Given the description of an element on the screen output the (x, y) to click on. 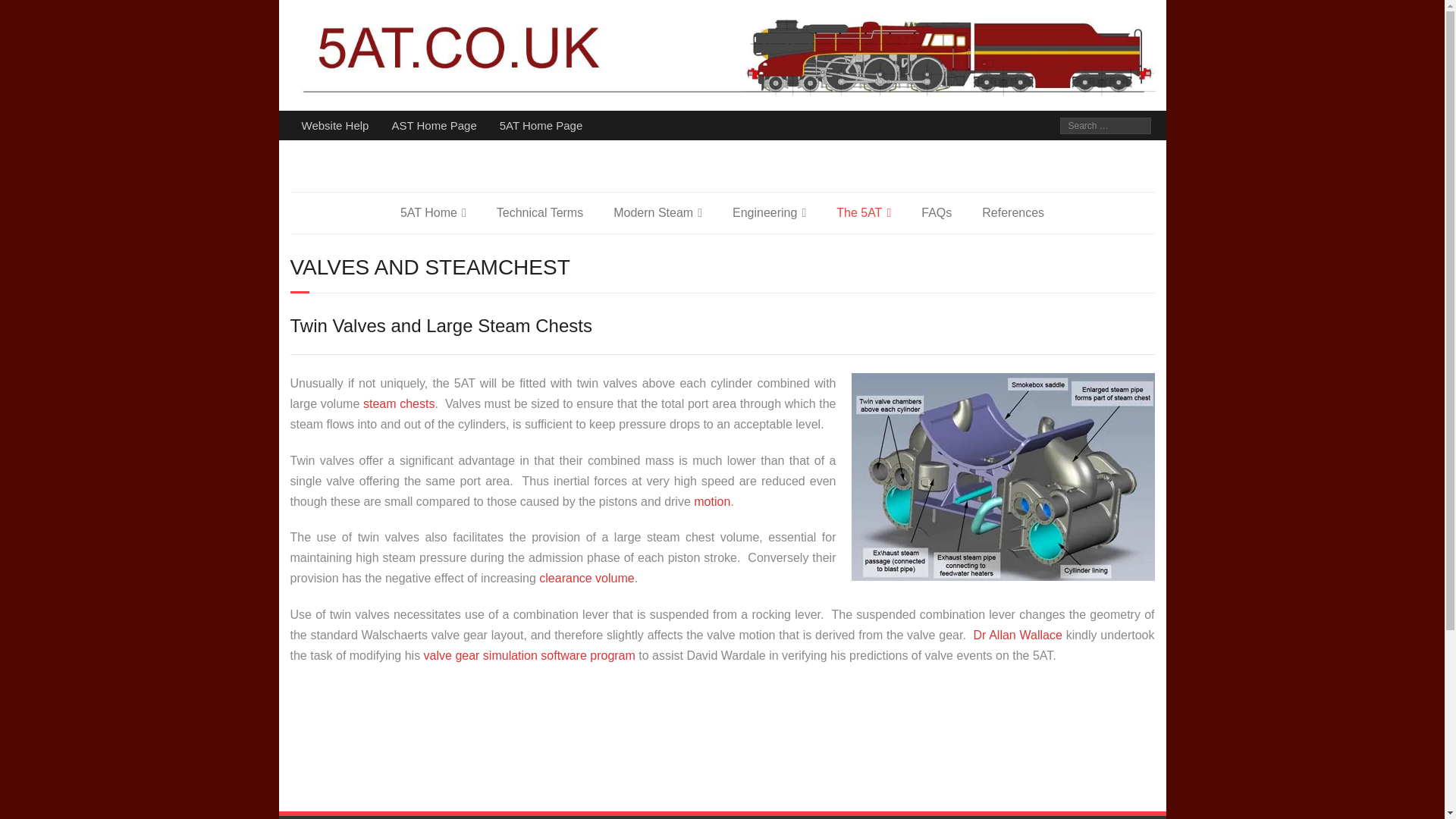
5AT Home (433, 212)
AST Home Page (433, 125)
Engineering (769, 212)
Modern Steam (657, 212)
5AT Home Page (540, 125)
Technical Terms (539, 212)
Search (25, 9)
Website Help (334, 125)
